Given the description of an element on the screen output the (x, y) to click on. 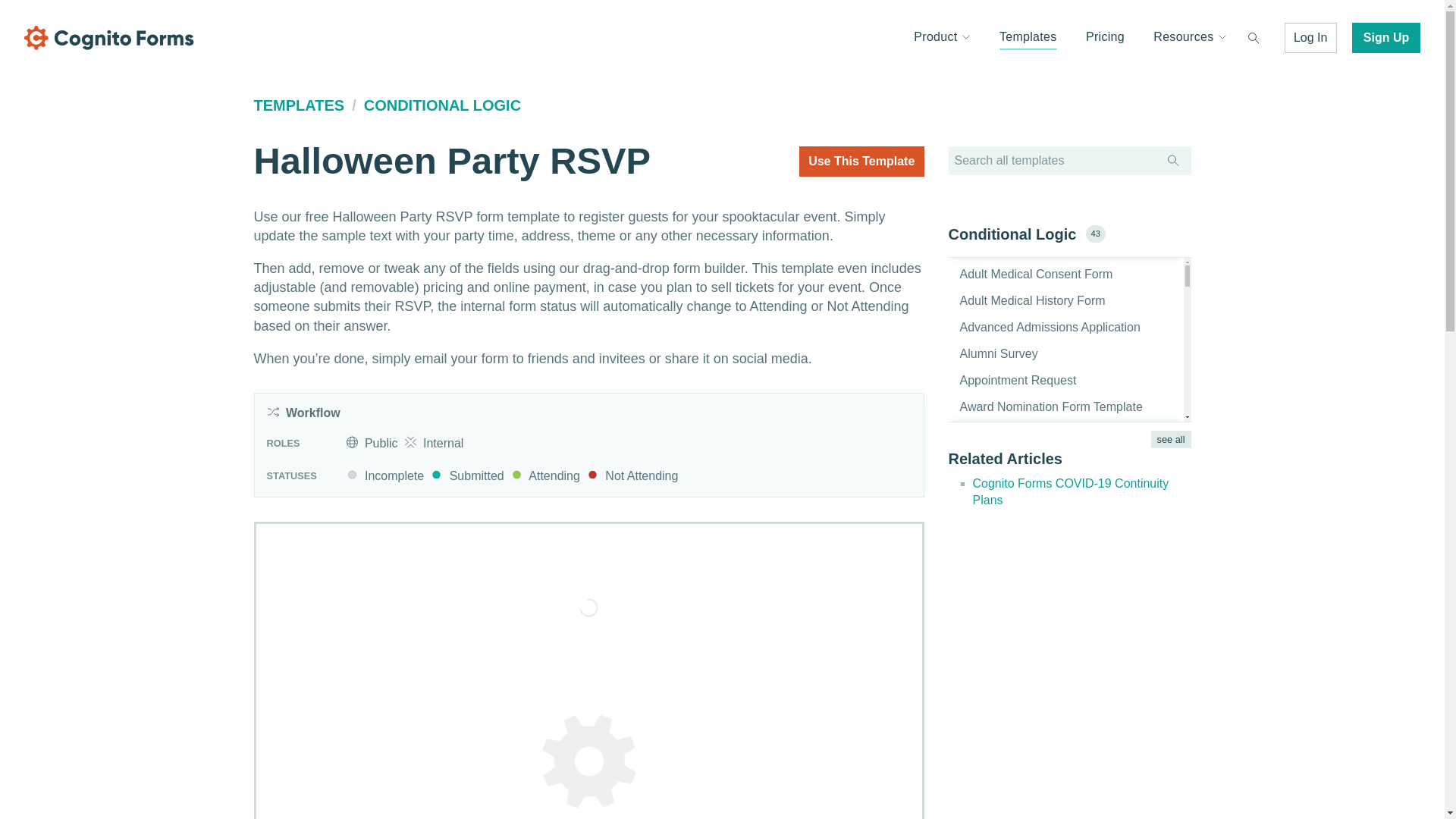
Alumni Survey (991, 353)
Friendsgiving Potluck Invitation (1036, 804)
College Orientation Registration Form (1055, 645)
Appointment Request (1011, 379)
Basic Admissions Application (1031, 432)
Adult Medical History Form (1026, 300)
Brand Awareness Survey (1020, 459)
Child Medical Consent Form (1029, 565)
Child Medical History Form (1026, 592)
Advanced Admissions Application (1043, 327)
Adult Medical Consent Form (1029, 273)
Halloween Party RSVP (588, 752)
Log In (1310, 37)
Templates (1028, 38)
Event Feedback Survey (1017, 751)
